Given the description of an element on the screen output the (x, y) to click on. 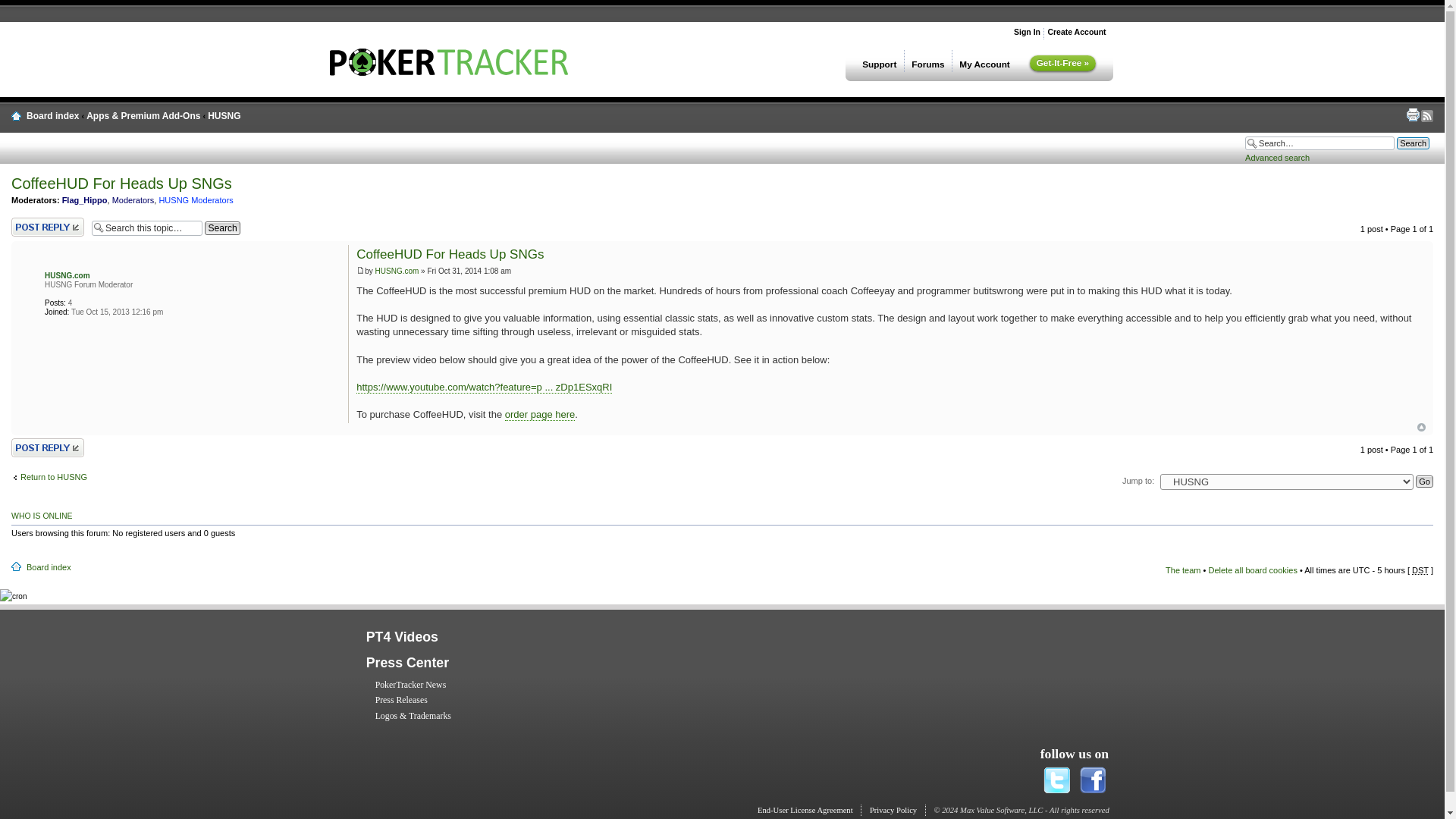
Top (1420, 427)
Go (1423, 481)
Daylight Saving Time (1420, 569)
HUSNG.com (66, 275)
Post a reply (47, 447)
Forums (927, 60)
Board index (48, 566)
Create Account (1075, 31)
Support (879, 60)
Home (448, 71)
HUSNG Moderators (195, 199)
Search (222, 228)
Top (1420, 427)
CoffeeHUD For Heads Up SNGs (449, 254)
order page here (540, 414)
